Given the description of an element on the screen output the (x, y) to click on. 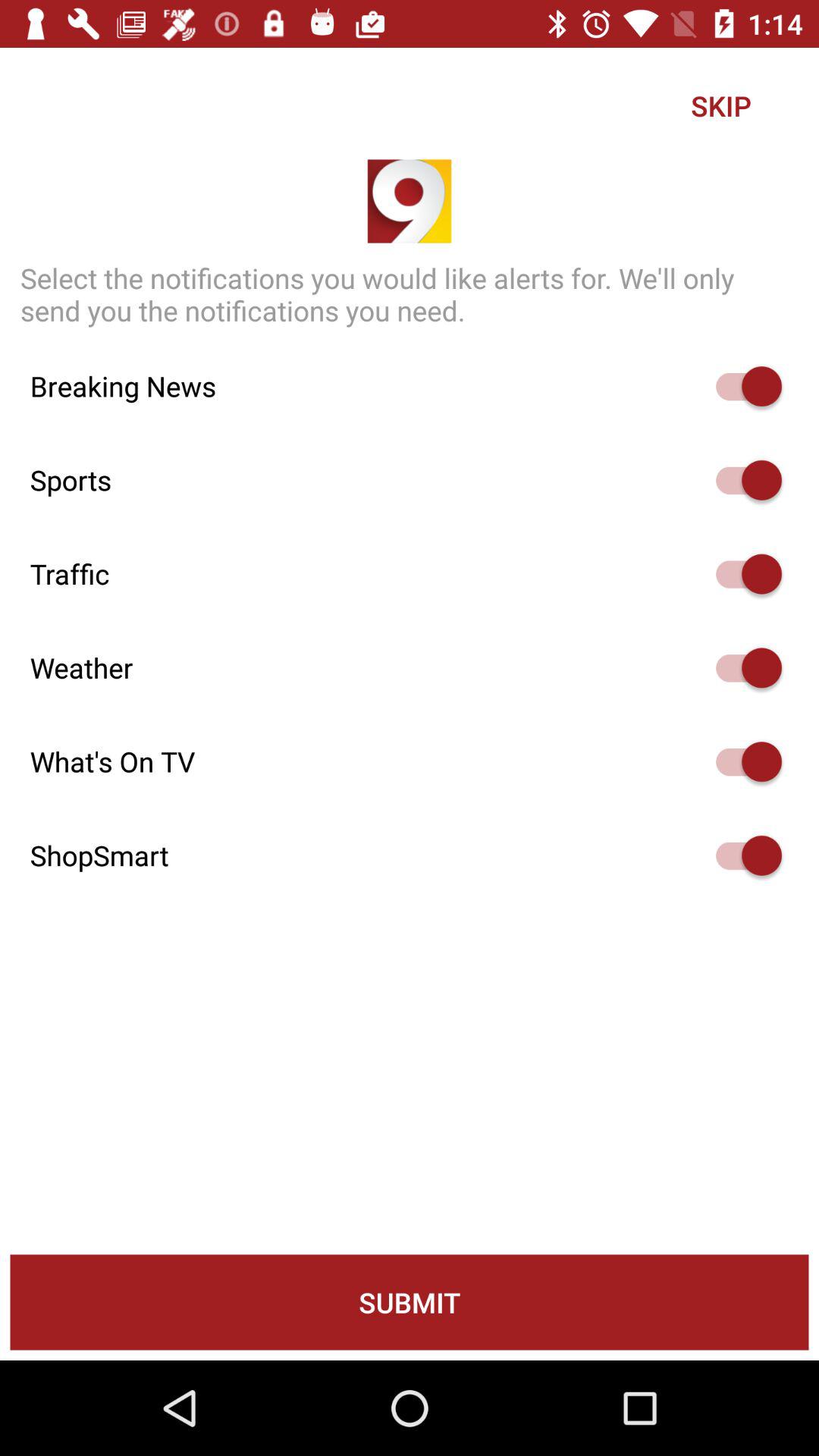
toggle off button (741, 480)
